Given the description of an element on the screen output the (x, y) to click on. 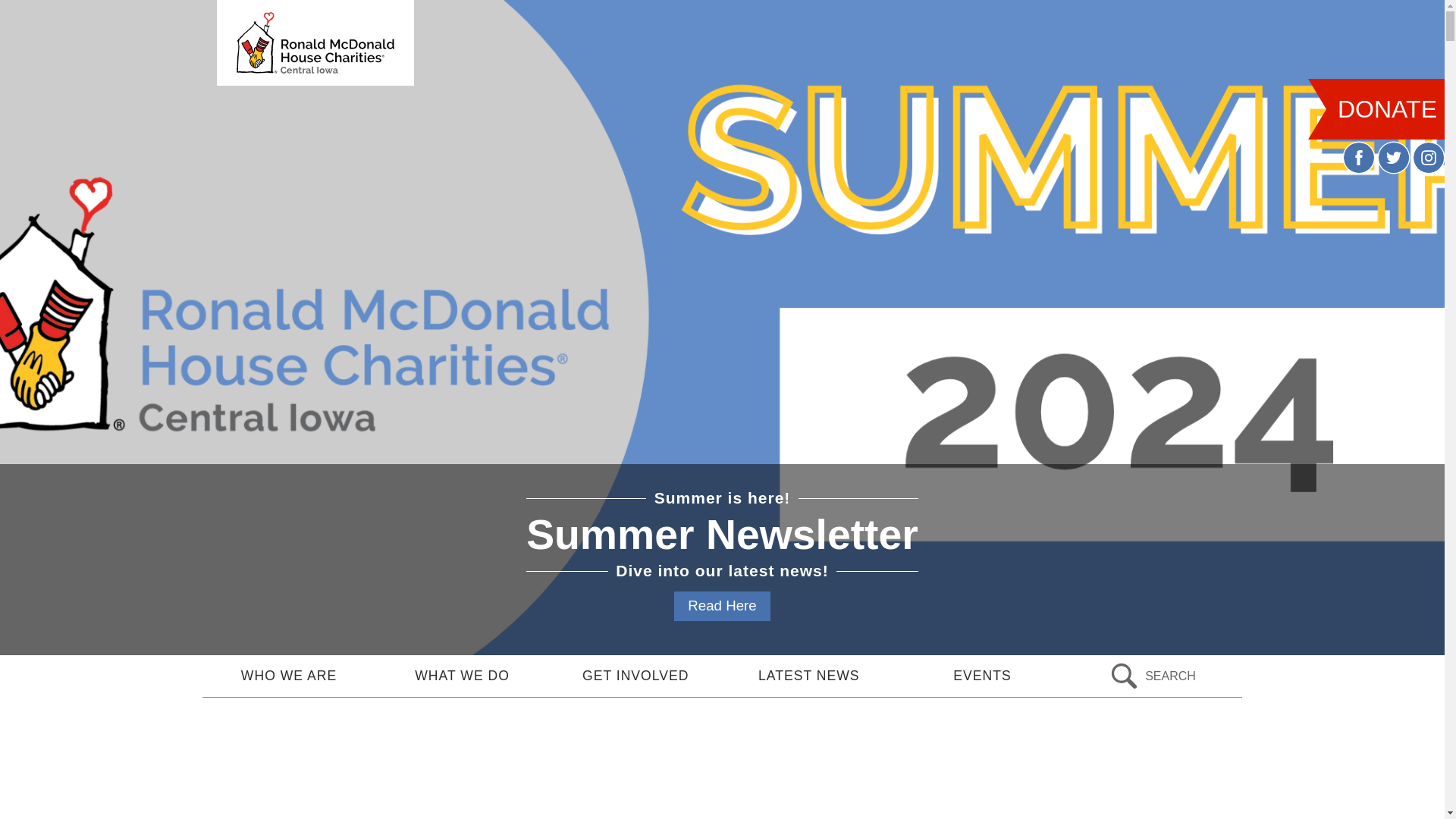
DONATE (1385, 108)
Read Here (722, 605)
GET INVOLVED (635, 675)
WHAT WE DO (461, 675)
LATEST NEWS (809, 675)
WHO WE ARE (288, 675)
EVENTS (981, 675)
search (1155, 675)
